Given the description of an element on the screen output the (x, y) to click on. 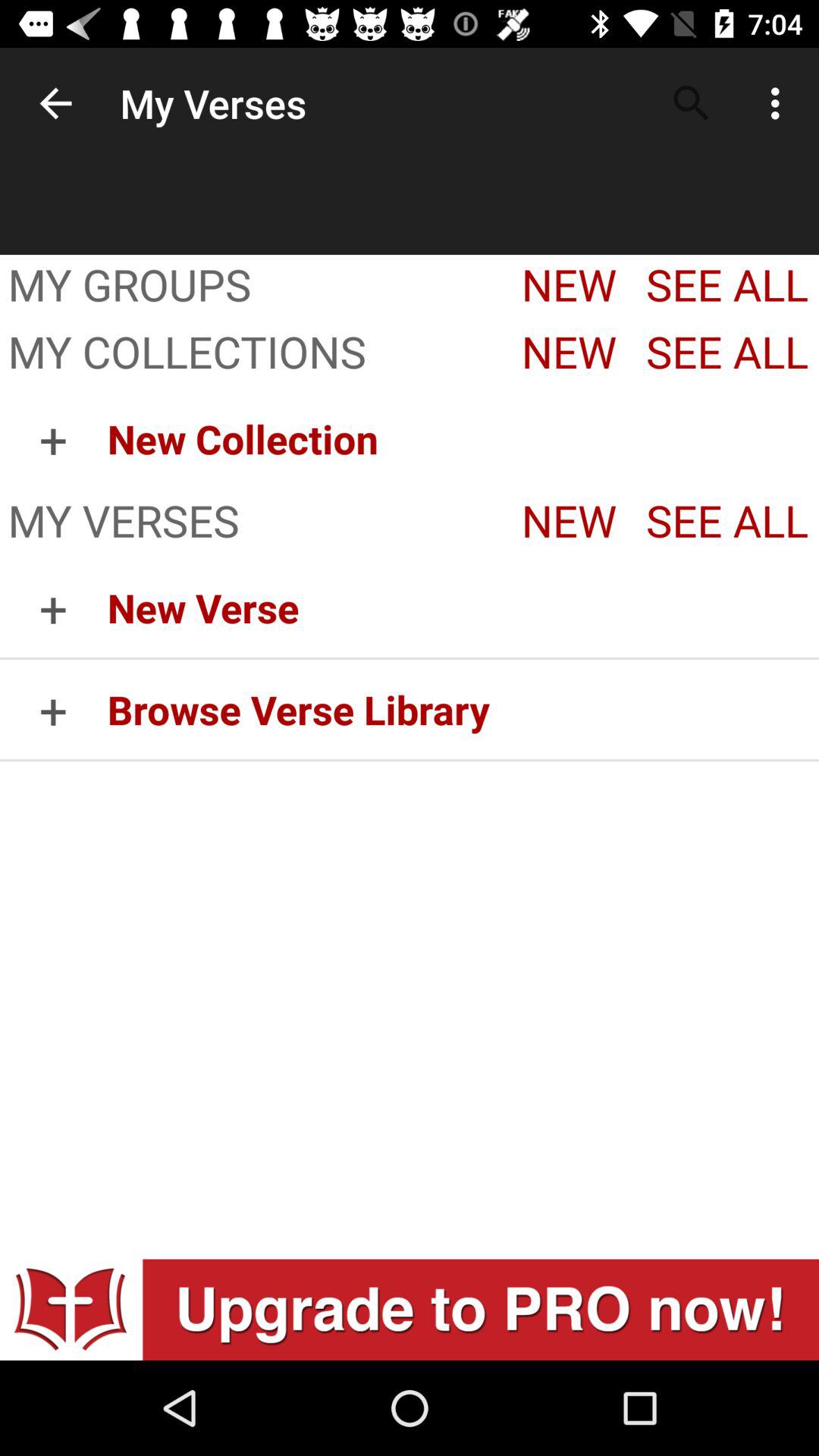
tap item to the right of my verses item (691, 103)
